Given the description of an element on the screen output the (x, y) to click on. 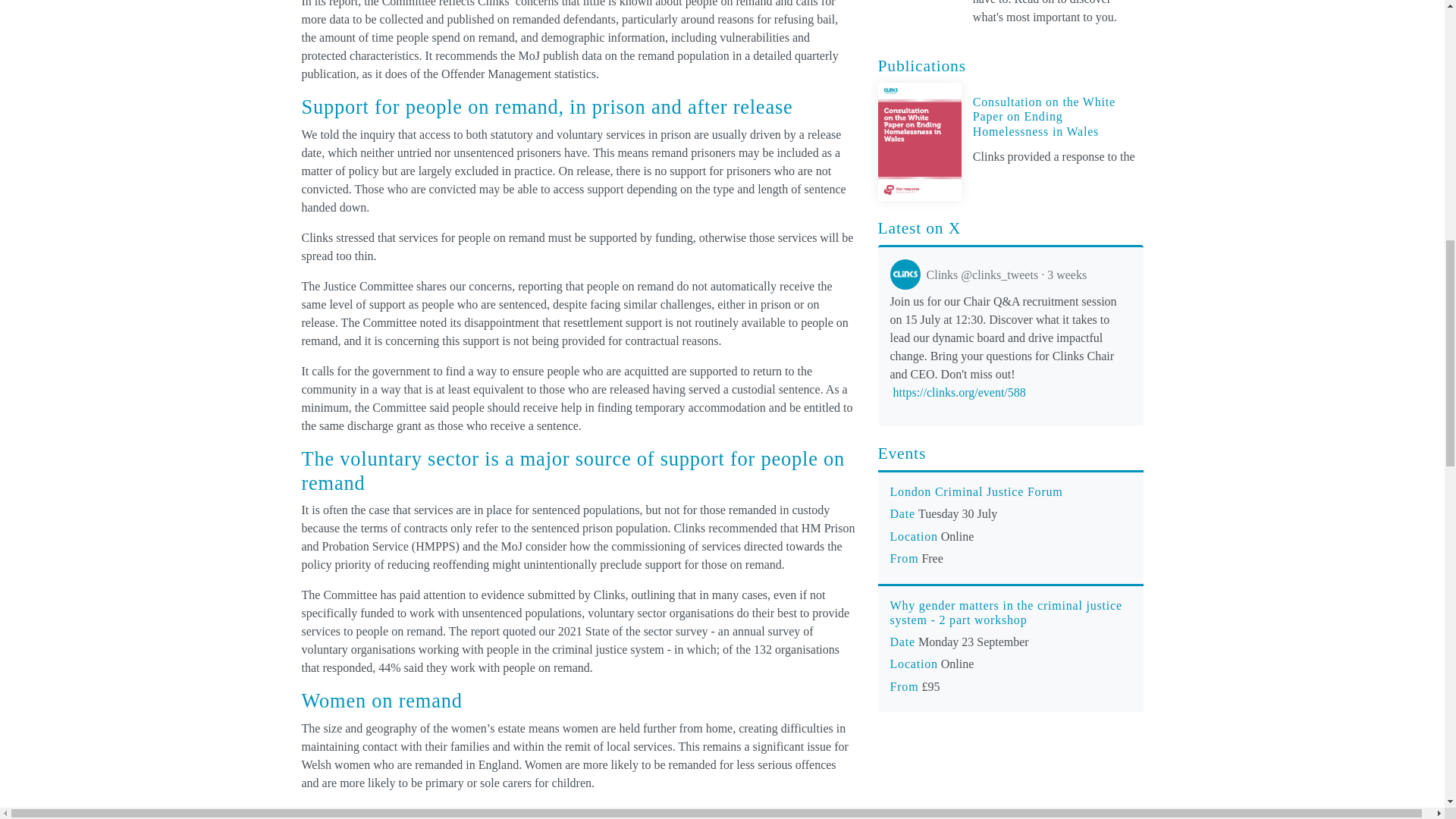
Clinks Tweets (988, 274)
